Given the description of an element on the screen output the (x, y) to click on. 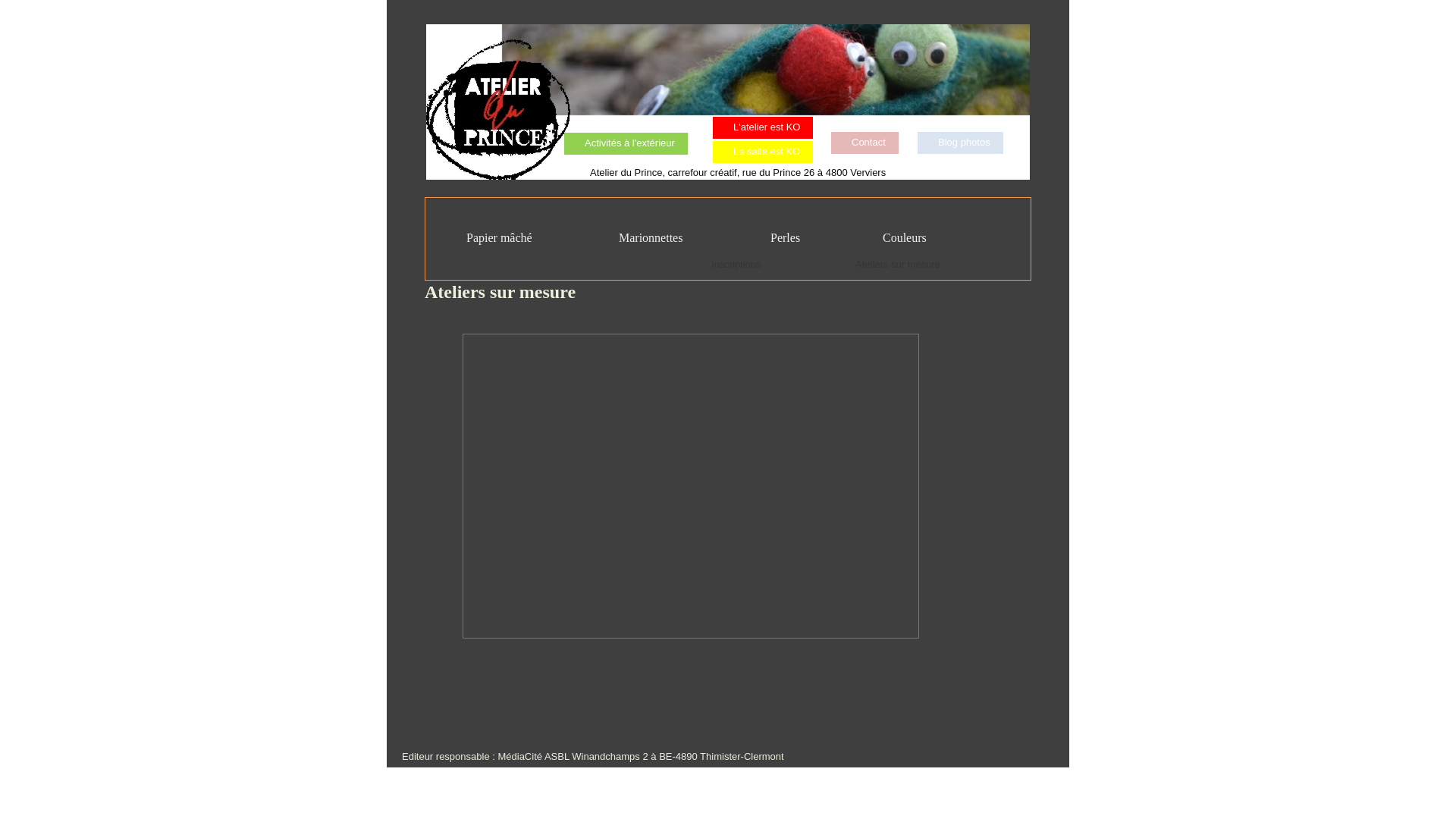
Perles Element type: text (775, 237)
Couleurs Element type: text (904, 237)
Blog photos Element type: text (960, 142)
Inscriptions Element type: text (736, 264)
Contact Element type: text (868, 141)
Marionnettes Element type: text (640, 237)
La salle est KO Element type: text (766, 151)
L'atelier est KO Element type: text (766, 126)
L'atelier est KO Element type: text (762, 127)
Perles Element type: text (785, 237)
La salle est KO Element type: text (762, 152)
Ateliers sur mesure Element type: text (897, 264)
Marionnettes Element type: text (650, 237)
Blog photos Element type: text (964, 141)
Ateliers sur mesure Element type: text (905, 265)
Inscriptions Element type: text (744, 265)
Couleurs Element type: text (894, 237)
Contact Element type: text (864, 142)
